Given the description of an element on the screen output the (x, y) to click on. 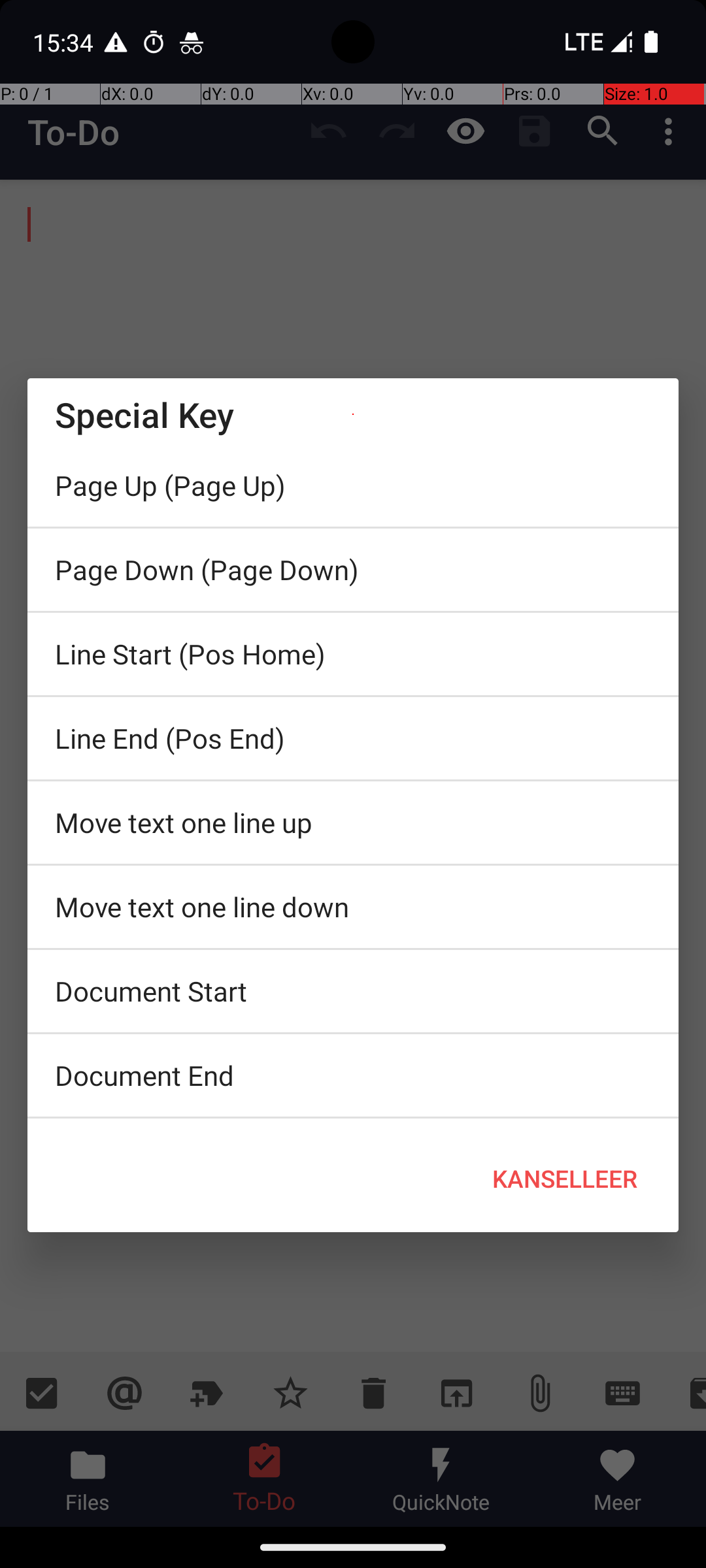
Page Up (Page Up) Element type: android.widget.TextView (352, 485)
Page Down (Page Down) Element type: android.widget.TextView (352, 569)
Line Start (Pos Home) Element type: android.widget.TextView (352, 653)
Line End (Pos End) Element type: android.widget.TextView (352, 738)
Move text one line up Element type: android.widget.TextView (352, 822)
Move text one line down Element type: android.widget.TextView (352, 906)
Document Start Element type: android.widget.TextView (352, 990)
Document End Element type: android.widget.TextView (352, 1075)
Select all (Ctrl+A) Element type: android.widget.TextView (352, 1121)
KANSELLEER Element type: android.widget.Button (564, 1178)
Chrome notification: Incognito Tabs Element type: android.widget.ImageView (191, 41)
